Given the description of an element on the screen output the (x, y) to click on. 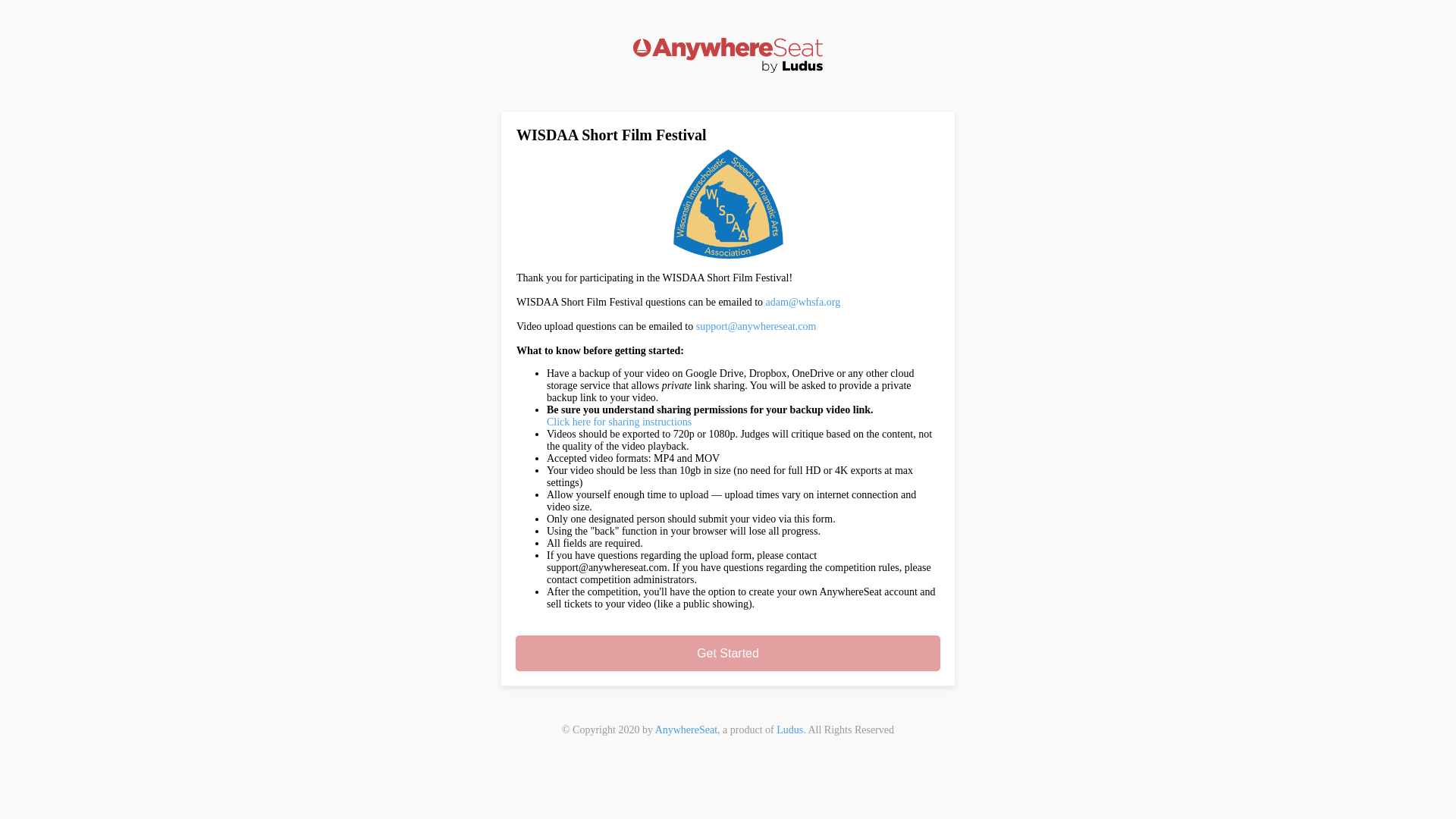
Get Started (727, 653)
AnywhereSeat (686, 729)
Ludus (789, 729)
Click here for sharing instructions (619, 421)
